Given the description of an element on the screen output the (x, y) to click on. 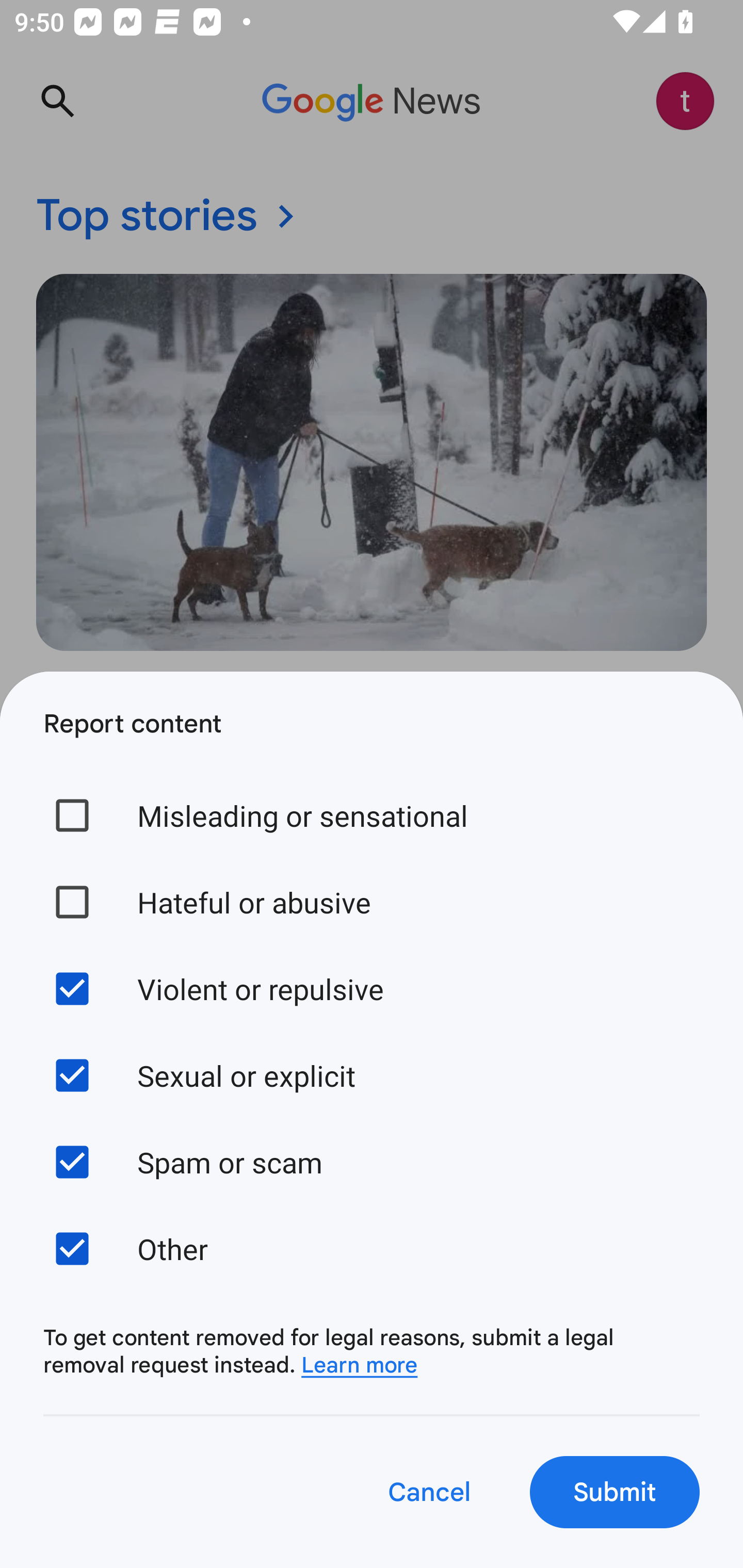
Misleading or sensational (371, 815)
Hateful or abusive (371, 902)
Violent or repulsive (371, 988)
Sexual or explicit (371, 1074)
Spam or scam (371, 1161)
Other (371, 1248)
Cancel (428, 1491)
Submit (614, 1491)
